Given the description of an element on the screen output the (x, y) to click on. 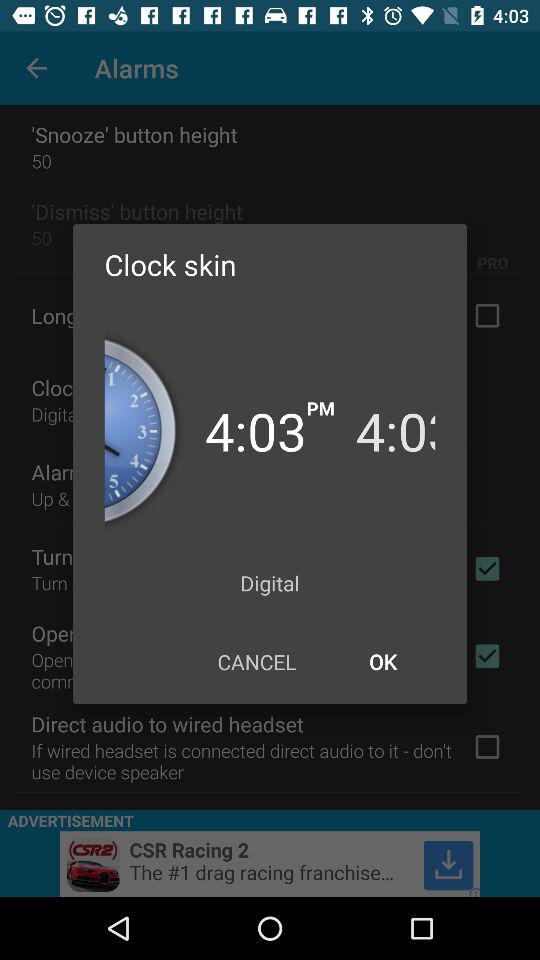
press the icon at the bottom (256, 661)
